Given the description of an element on the screen output the (x, y) to click on. 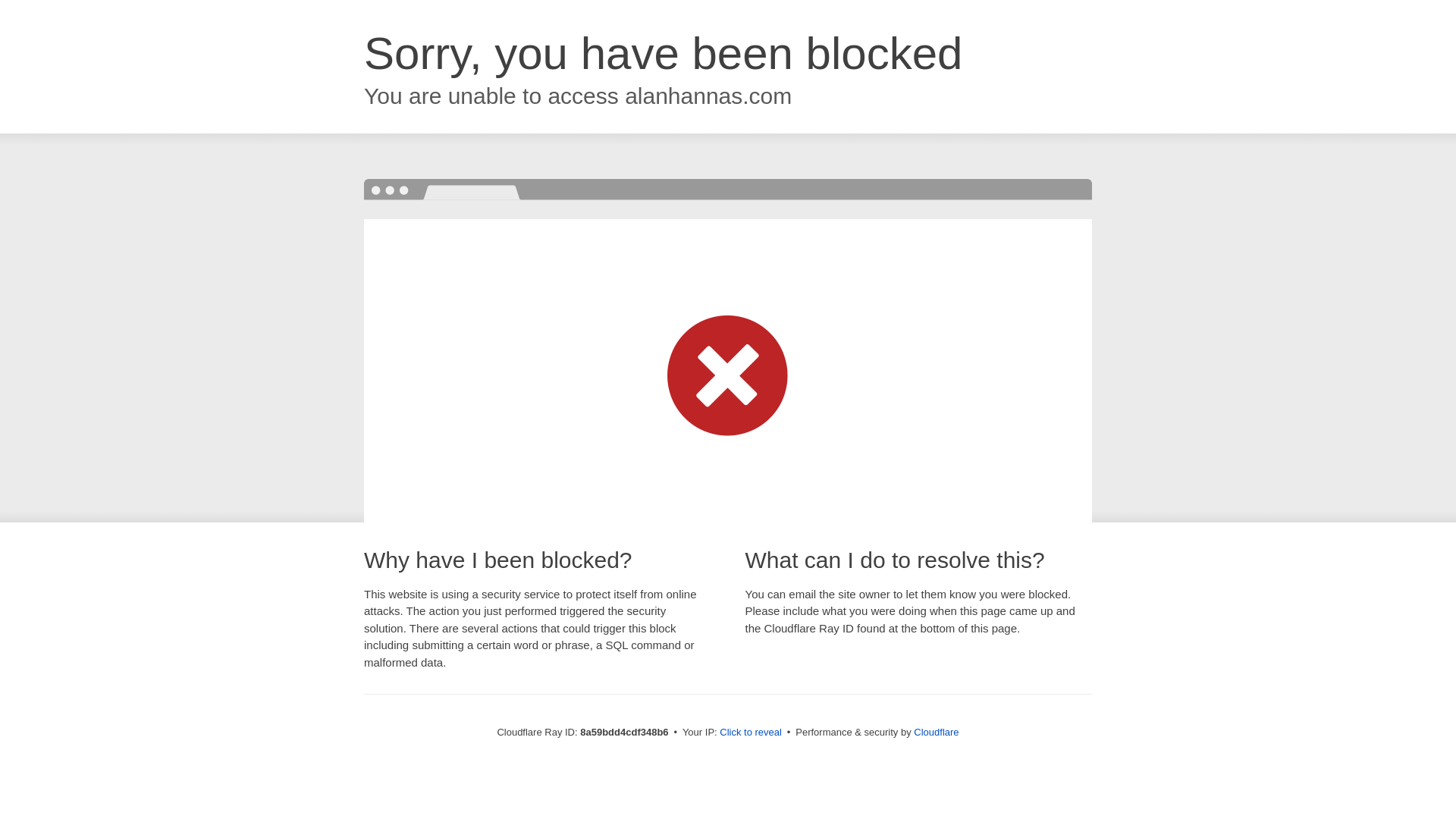
Cloudflare (936, 731)
Click to reveal (750, 732)
